Given the description of an element on the screen output the (x, y) to click on. 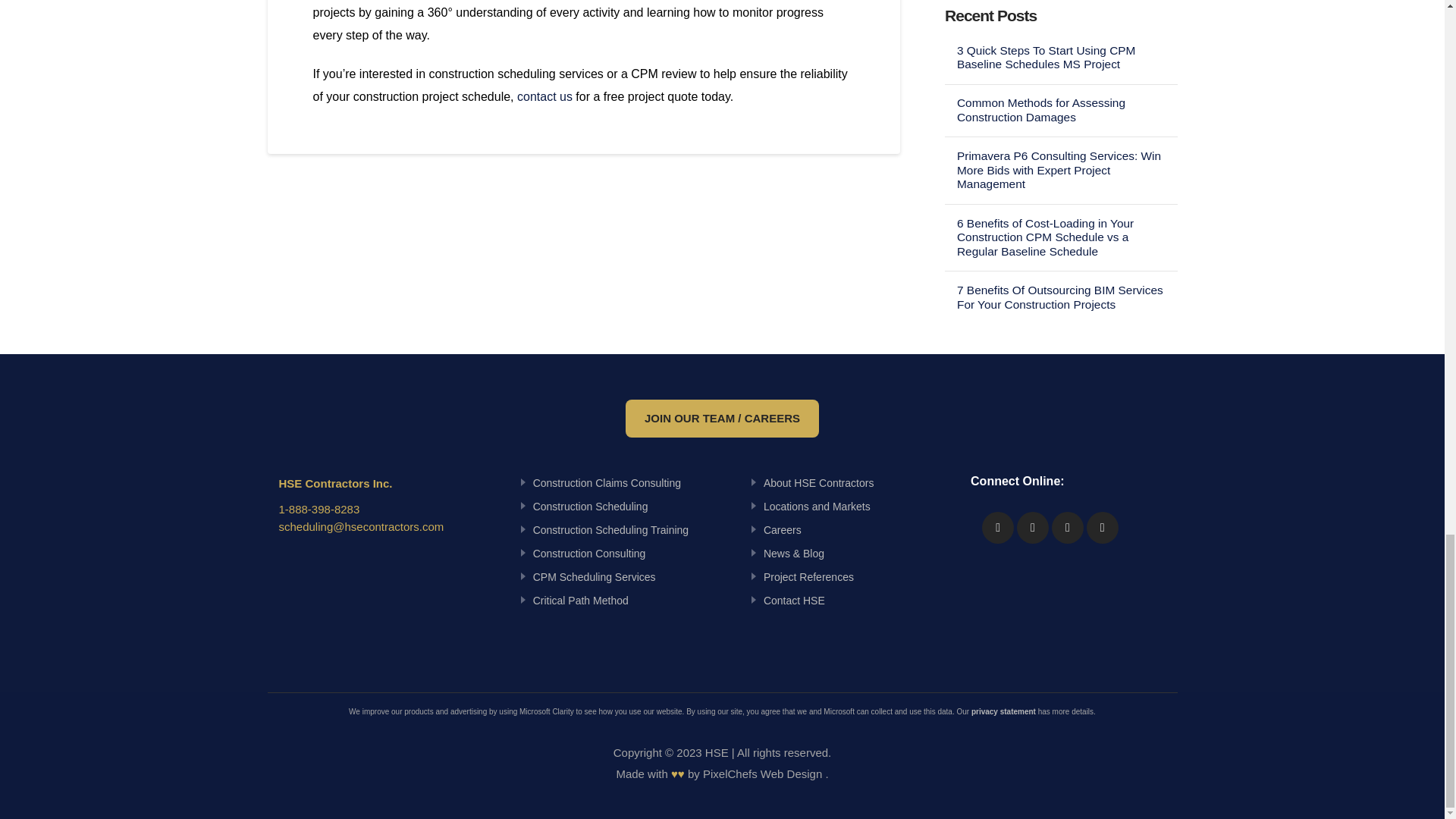
Linkedin (997, 527)
Twitter (1102, 527)
Facebook (1032, 527)
YouTube (1067, 527)
